Given the description of an element on the screen output the (x, y) to click on. 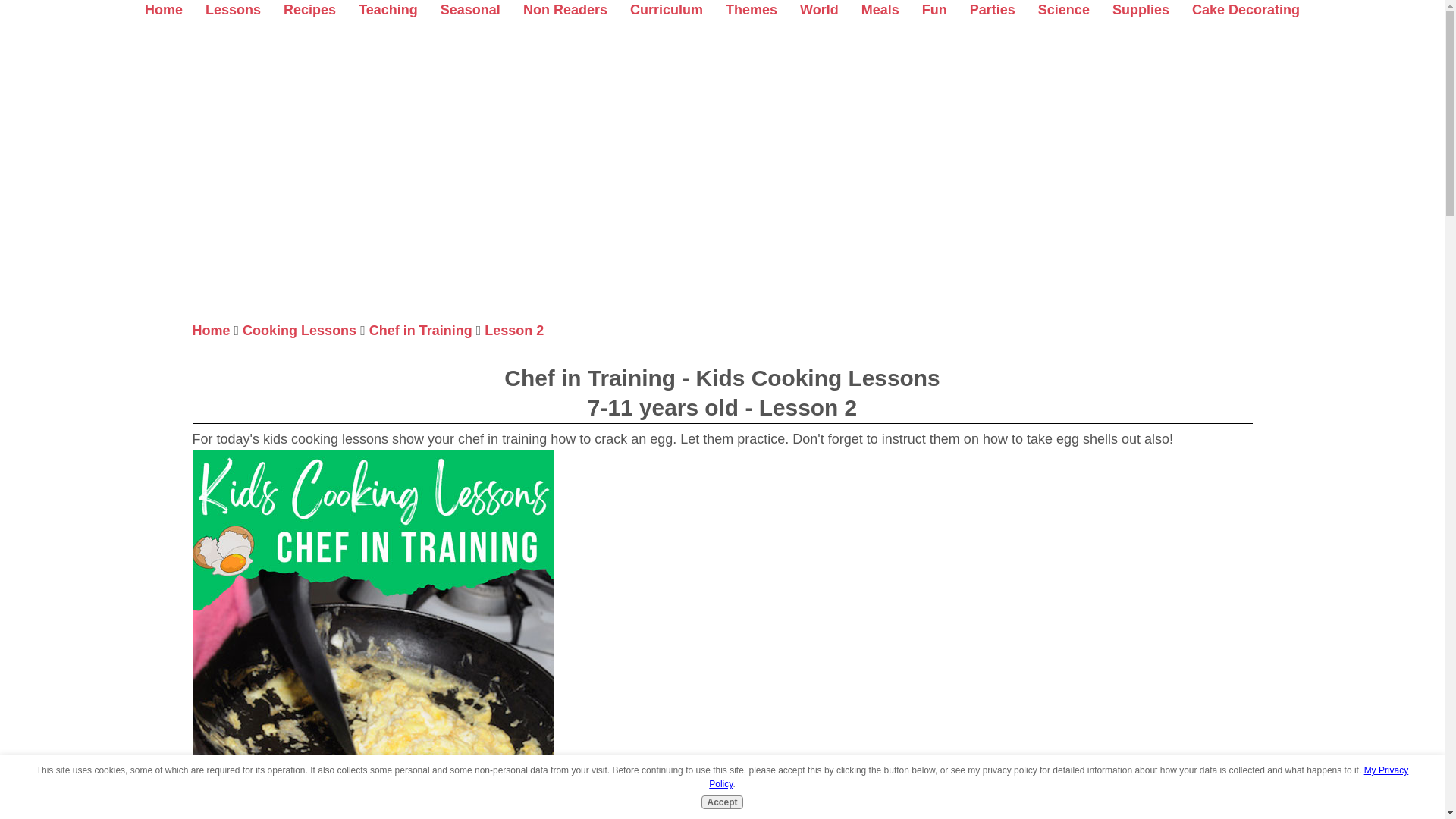
Home (211, 330)
Home (163, 9)
Lesson 2 (513, 330)
Cake Decorating (1246, 9)
Chef in Training (420, 330)
Curriculum (666, 9)
Supplies (1140, 9)
Cooking Lessons (299, 330)
Science (1063, 9)
World (818, 9)
Fun (934, 9)
My Privacy Policy (1058, 776)
Parties (991, 9)
Teaching (387, 9)
Themes (751, 9)
